Given the description of an element on the screen output the (x, y) to click on. 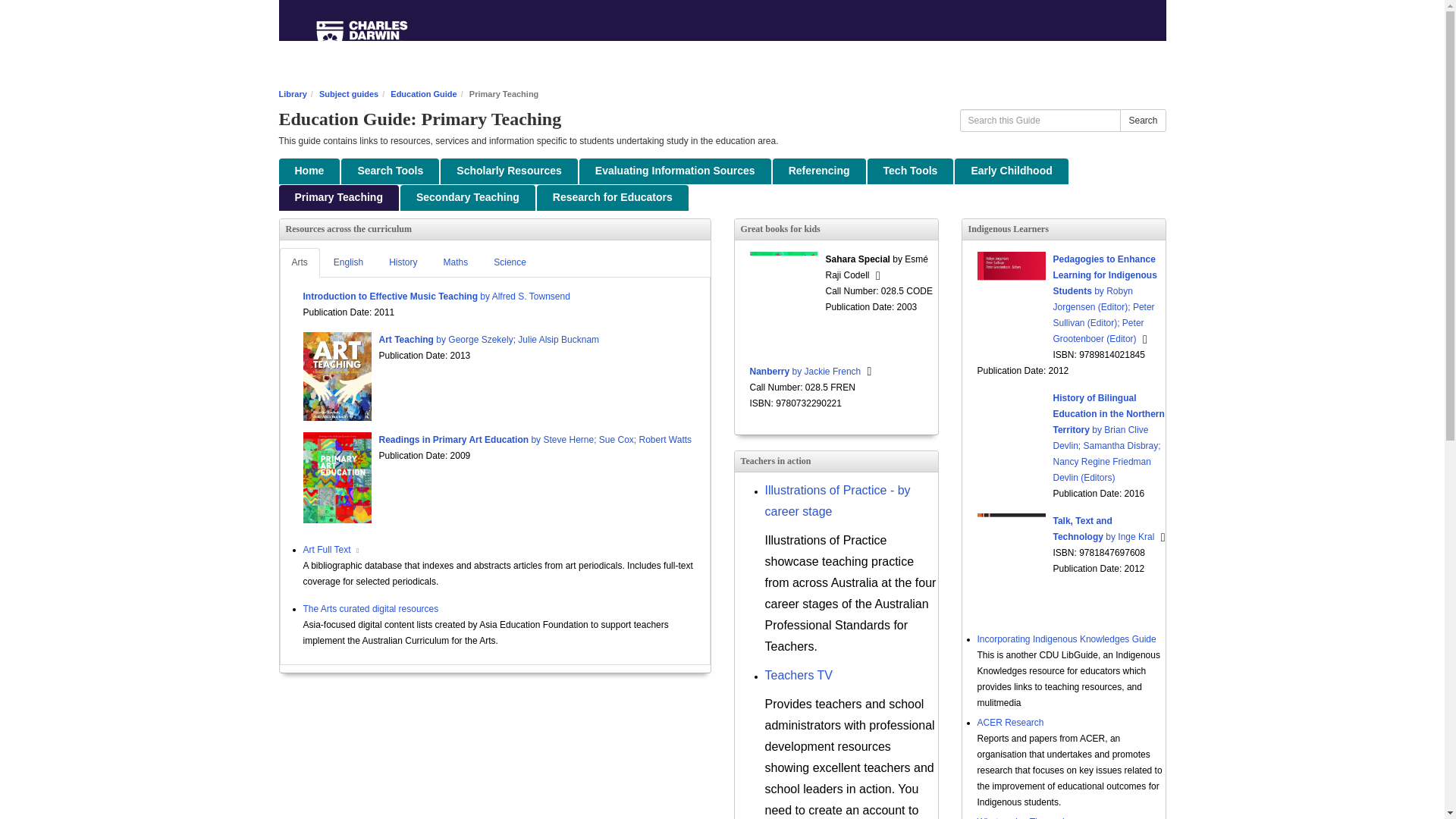
Evaluating Information Sources (675, 171)
Home (309, 171)
Art Full Text (326, 549)
History (403, 262)
Secondary Teaching (467, 197)
Primary Teaching (338, 197)
English (348, 262)
Search Tools (389, 171)
Library (293, 93)
Research for Educators (612, 197)
